Given the description of an element on the screen output the (x, y) to click on. 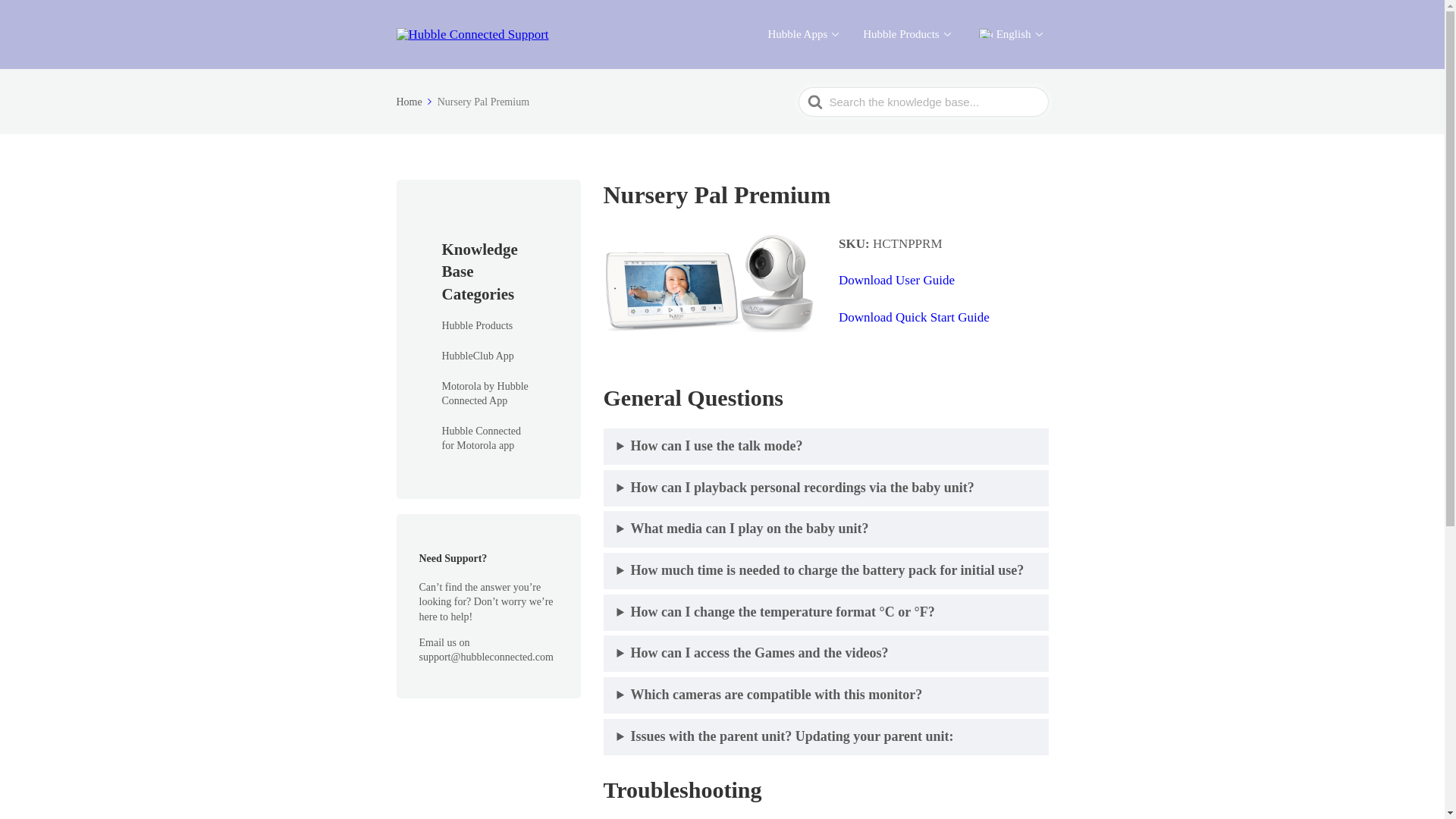
Download Quick Start Guide (914, 317)
Hubble Products (906, 33)
Download User Guide (896, 279)
Hubble Connected for Motorola app (487, 438)
English (1008, 33)
Motorola by Hubble Connected App (487, 393)
English (985, 32)
HubbleClub App (477, 356)
Home (414, 101)
Hubble Apps (802, 33)
